Given the description of an element on the screen output the (x, y) to click on. 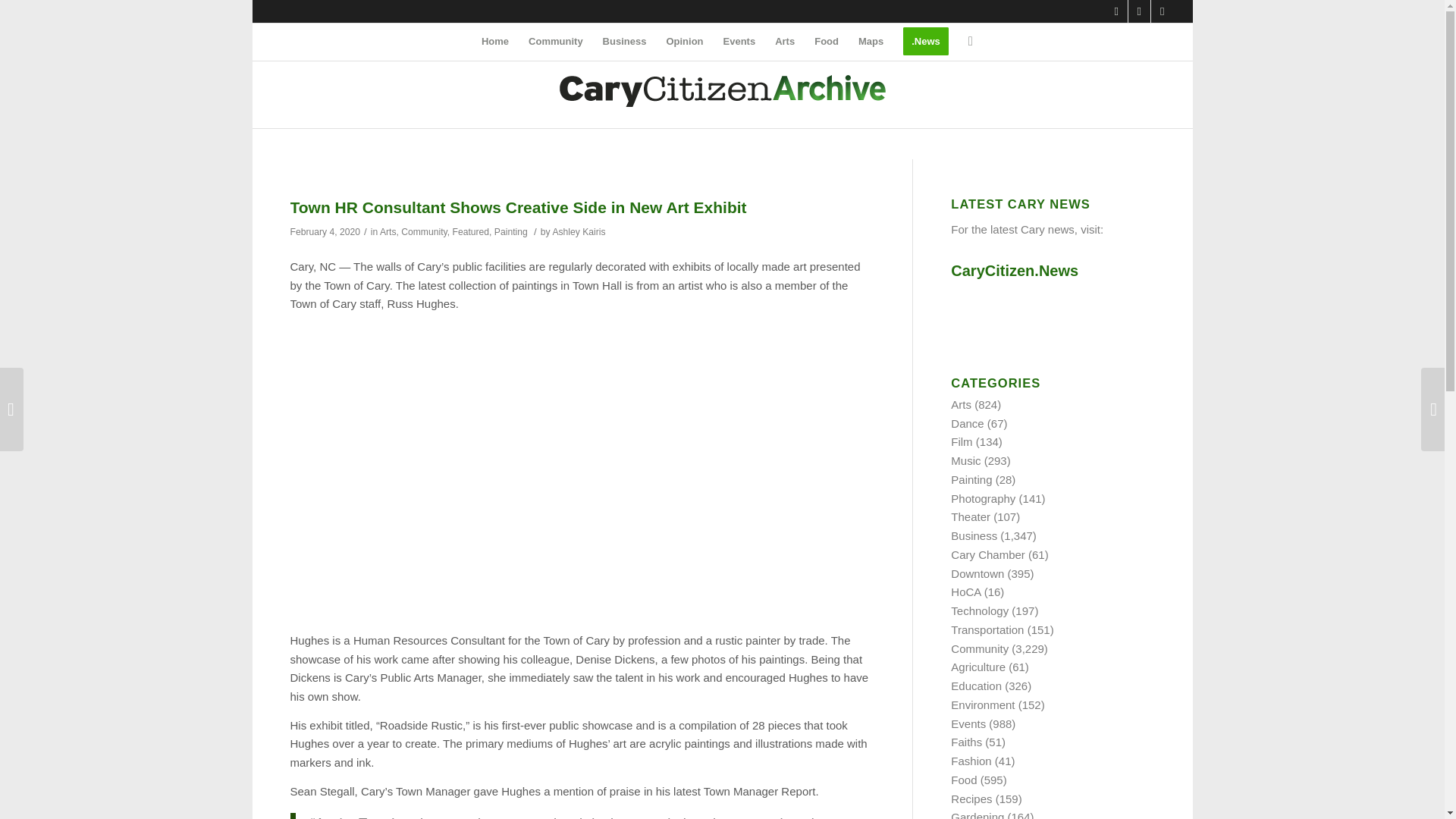
Community (423, 231)
Home (494, 41)
Ashley Kairis (578, 231)
Arts (388, 231)
Events (739, 41)
Community (555, 41)
Town HR Consultant Shows Creative Side in New Art Exhibit (517, 207)
Featured (470, 231)
Opinion (684, 41)
